Given the description of an element on the screen output the (x, y) to click on. 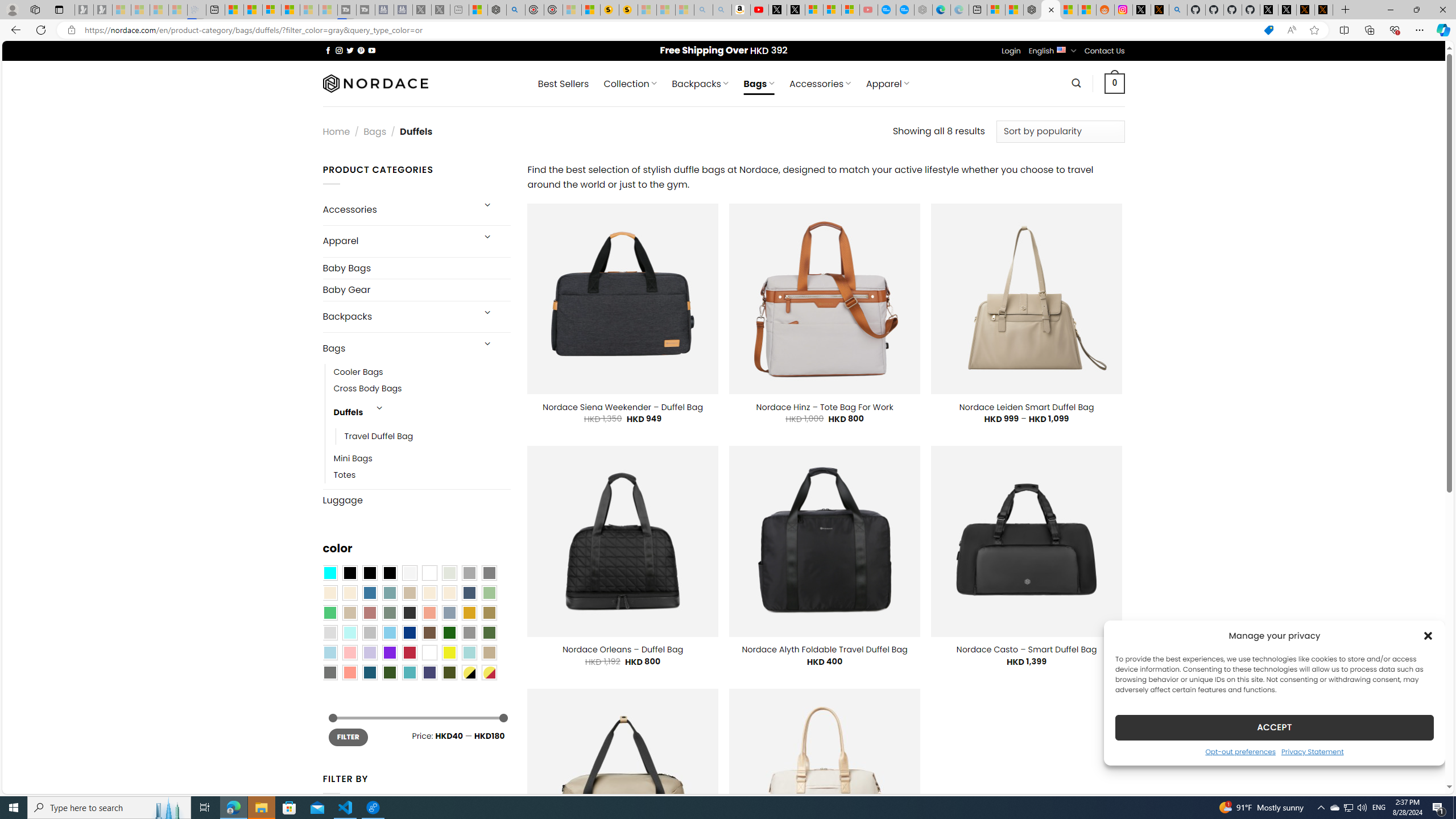
Accessories (397, 209)
Pink (349, 652)
GitHub (@github) / X (1287, 9)
Beige (329, 592)
Green (488, 632)
Contact Us (1104, 50)
Hale Navy (468, 592)
Teal (408, 672)
Cooler Bags (357, 371)
Rose (369, 613)
